Given the description of an element on the screen output the (x, y) to click on. 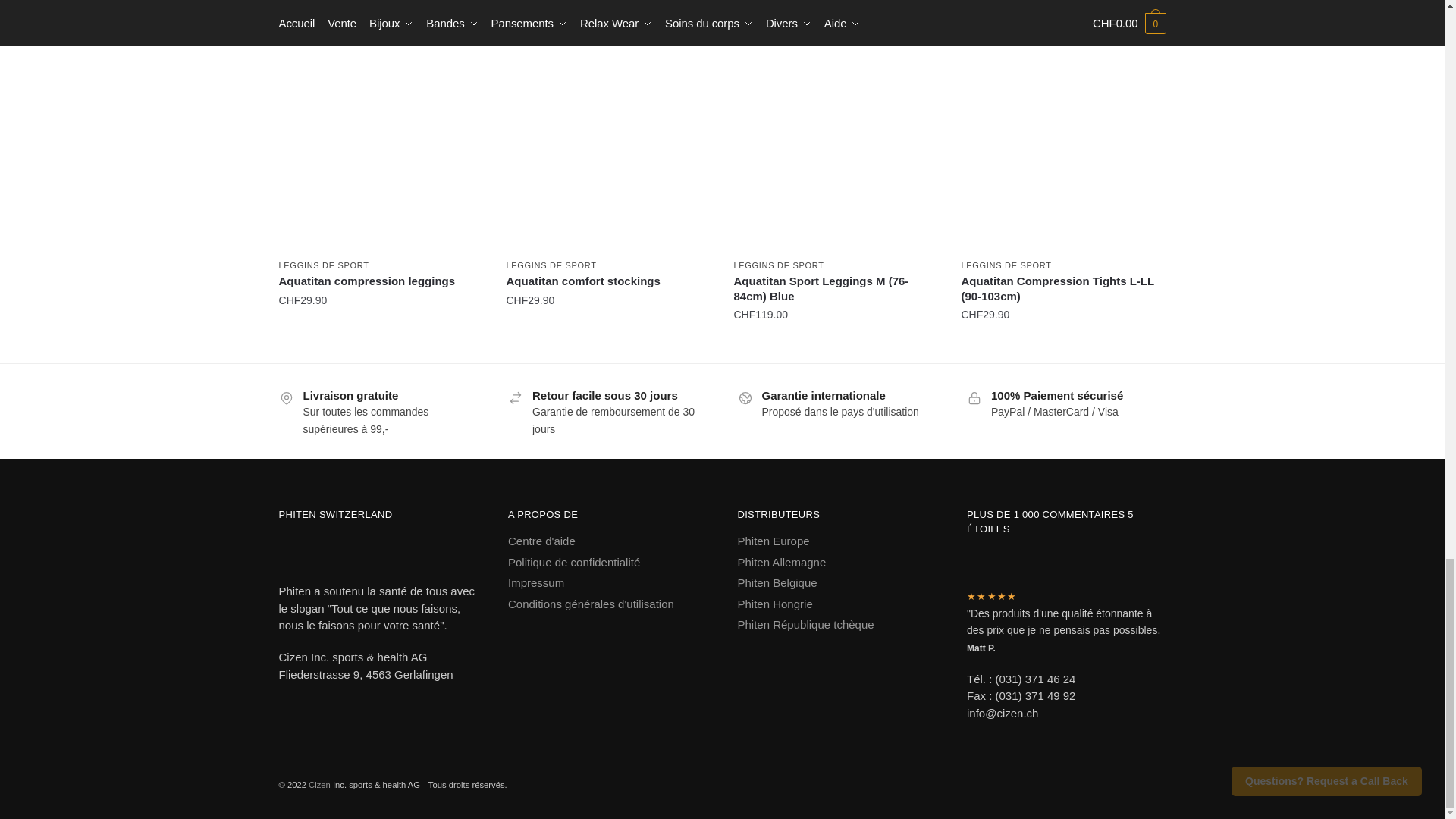
Aquatitan compression leggings (381, 149)
Aquatitan comfort stockings (608, 149)
